Given the description of an element on the screen output the (x, y) to click on. 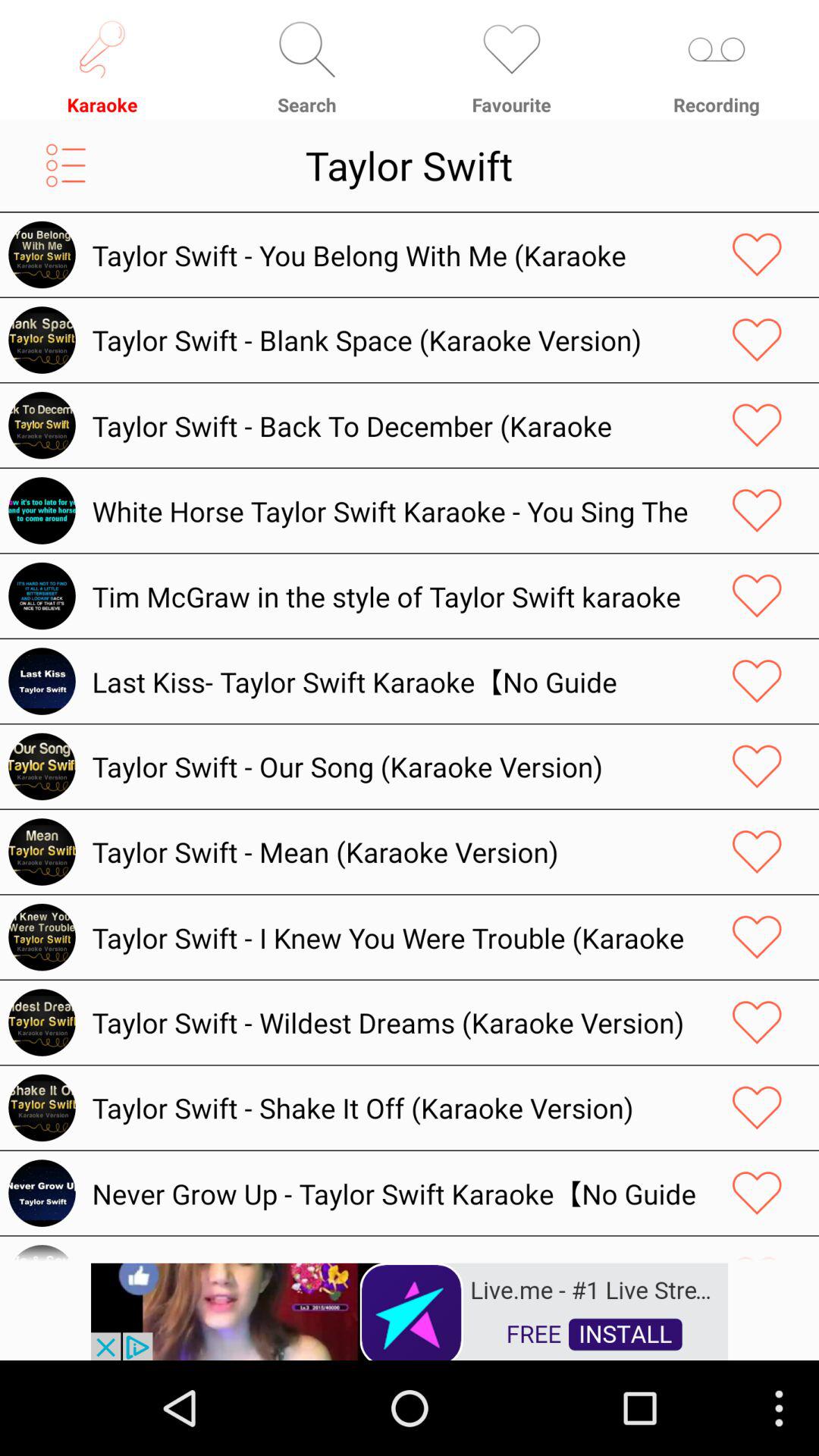
favorite option (756, 1022)
